Given the description of an element on the screen output the (x, y) to click on. 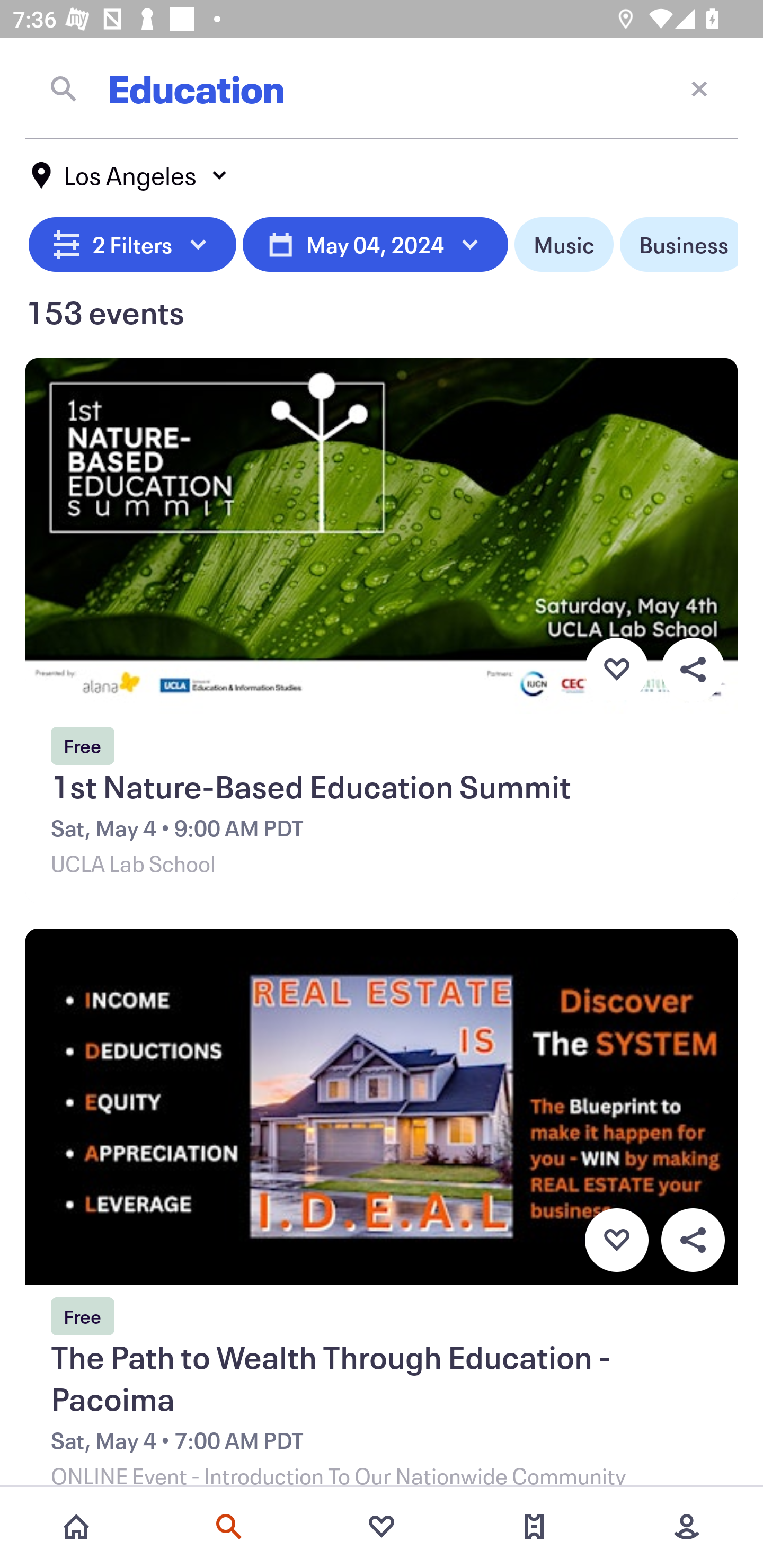
Education Close current screen (381, 88)
Close current screen (699, 88)
Los Angeles (130, 175)
2 Filters (132, 244)
May 04, 2024 (375, 244)
Music (563, 244)
Business (678, 244)
Favorite button (616, 669)
Overflow menu button (692, 669)
Favorite button (616, 1239)
Overflow menu button (692, 1239)
Home (76, 1526)
Search events (228, 1526)
Favorites (381, 1526)
Tickets (533, 1526)
More (686, 1526)
